Given the description of an element on the screen output the (x, y) to click on. 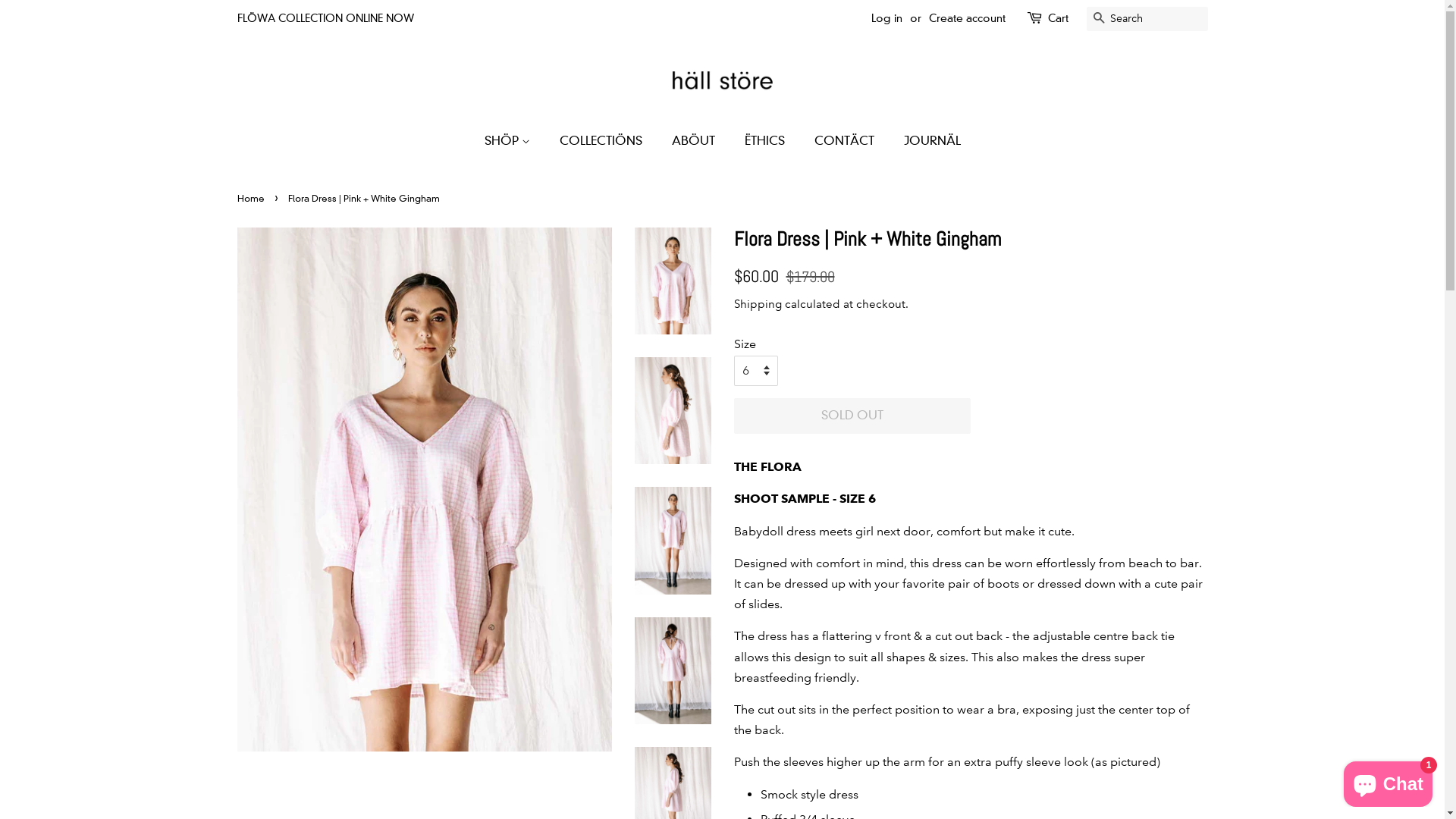
SEARCH Element type: text (1097, 18)
Cart Element type: text (1058, 18)
Shopify online store chat Element type: hover (1388, 780)
SOLD OUT Element type: text (852, 415)
Shipping Element type: text (757, 303)
Log in Element type: text (885, 18)
Home Element type: text (251, 197)
Create account Element type: text (966, 18)
